Given the description of an element on the screen output the (x, y) to click on. 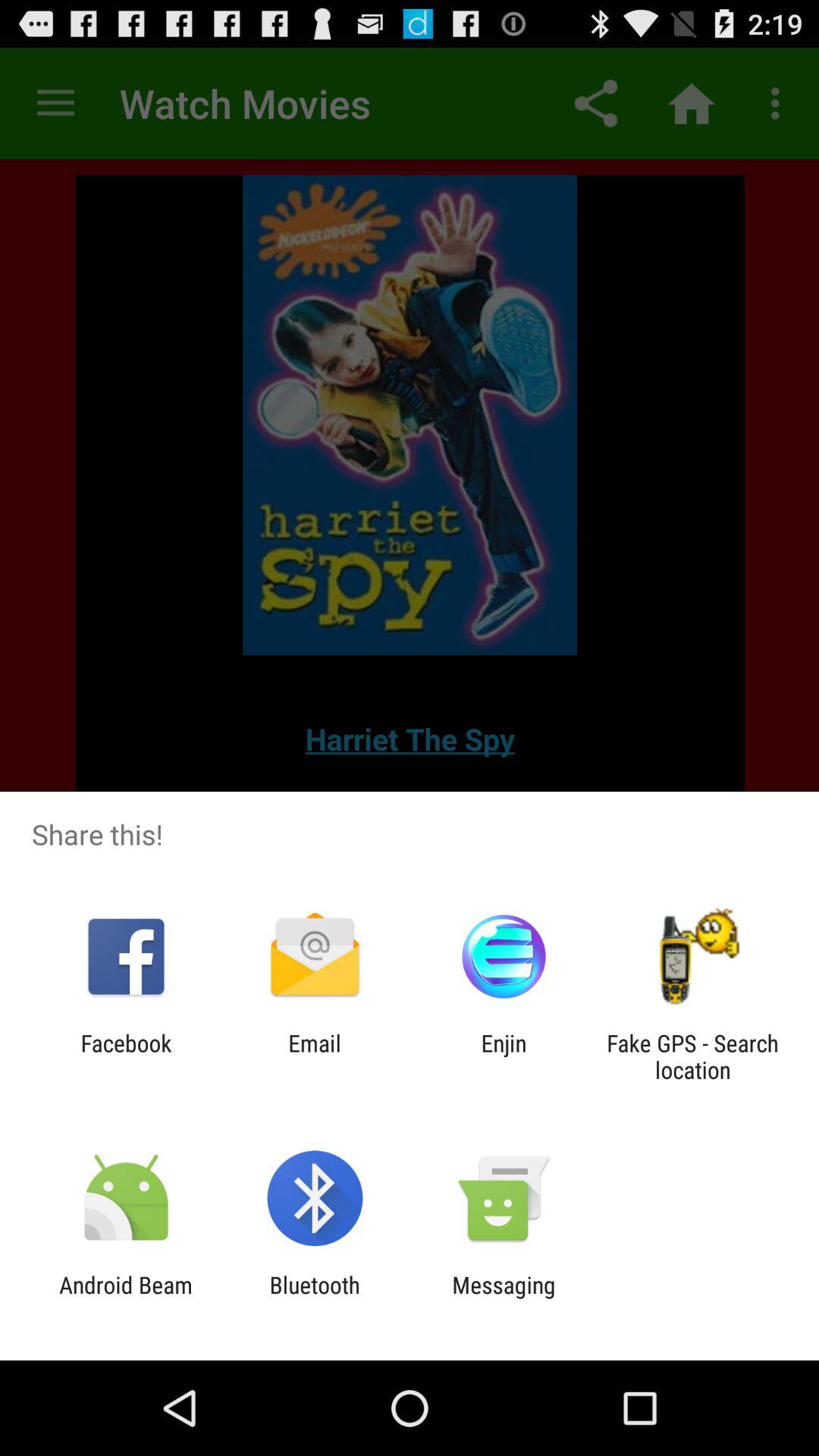
press the icon to the left of the fake gps search (503, 1056)
